Given the description of an element on the screen output the (x, y) to click on. 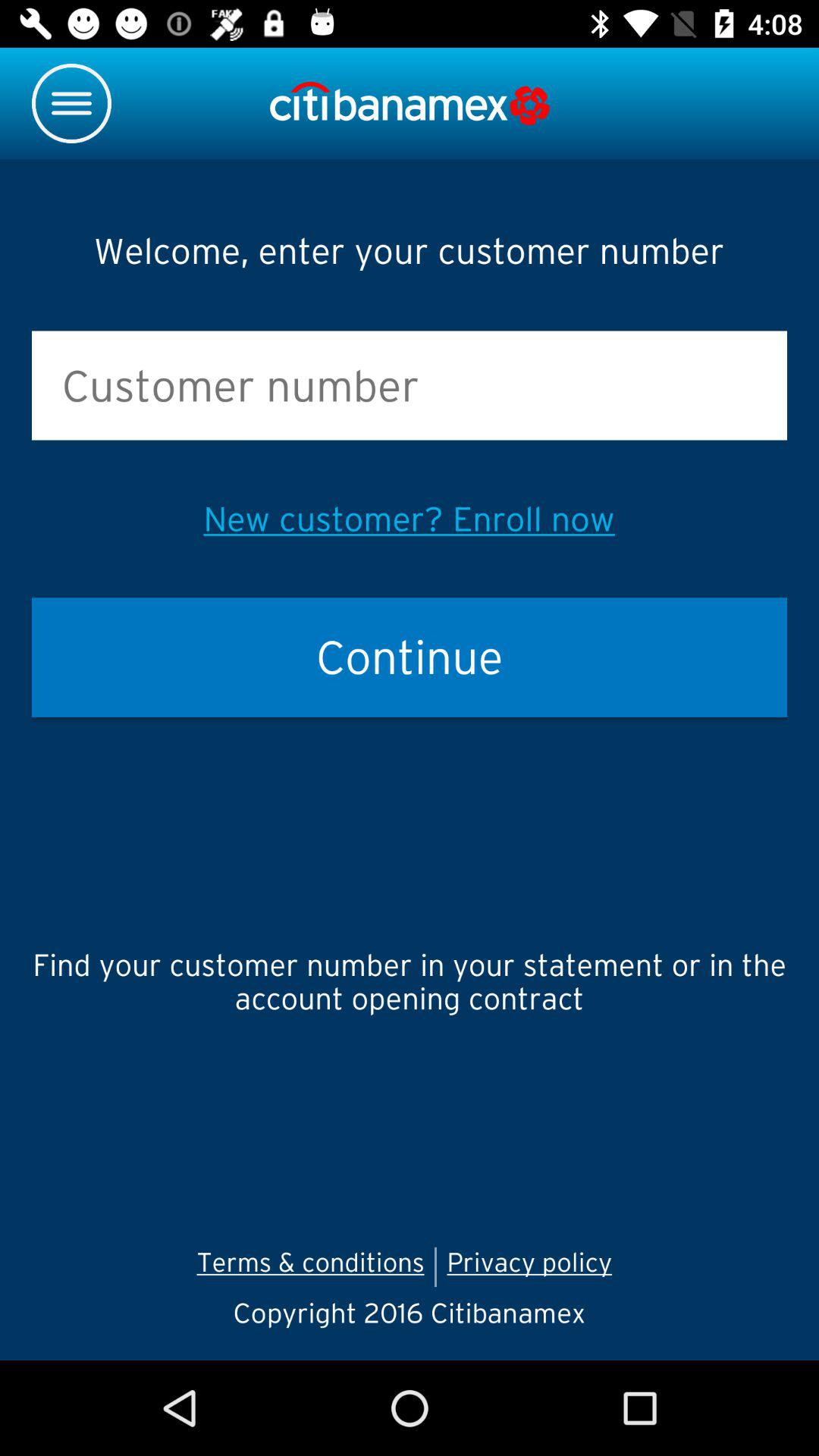
launch continue item (409, 657)
